Given the description of an element on the screen output the (x, y) to click on. 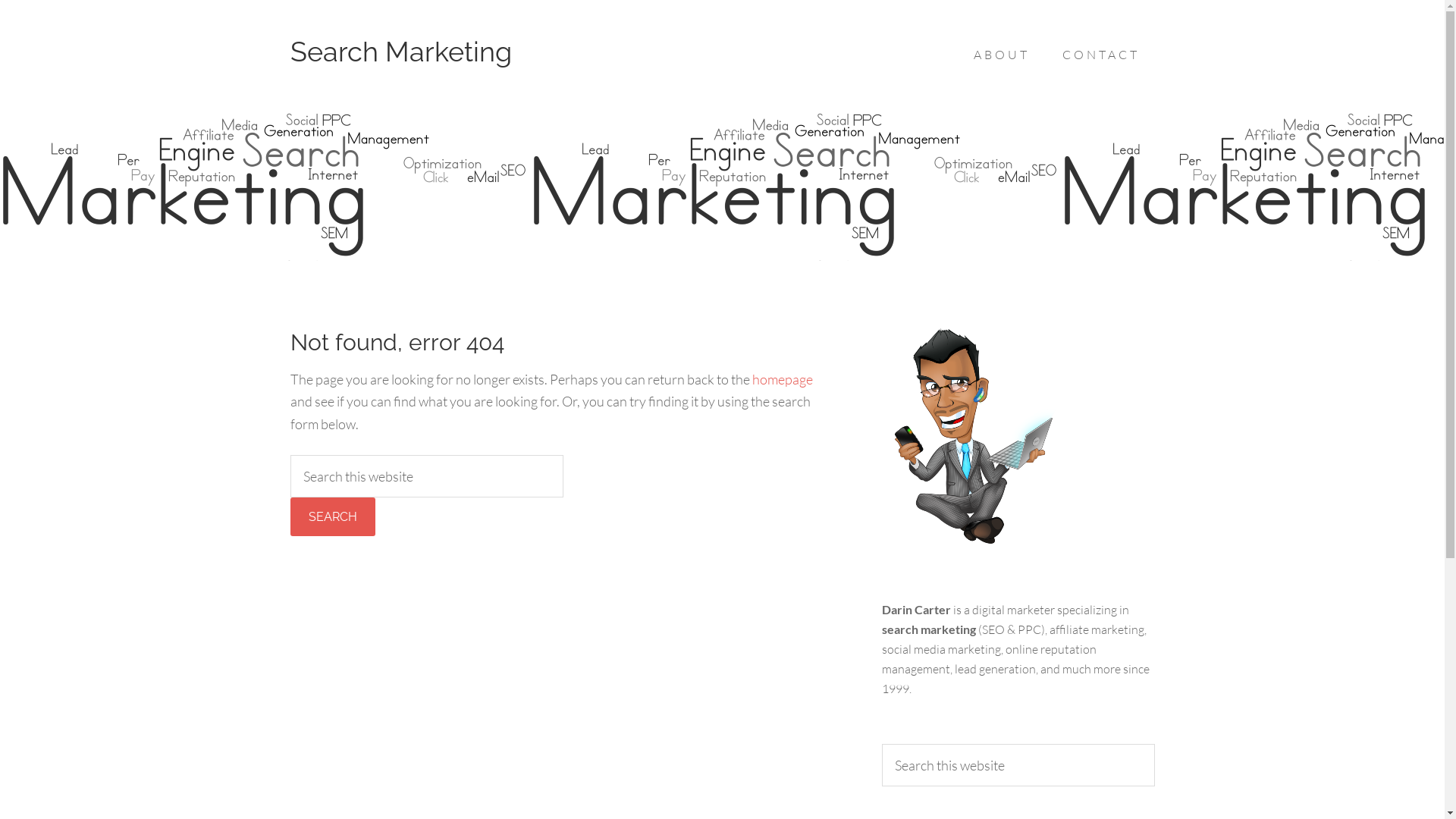
Search Element type: text (331, 516)
ABOUT Element type: text (1001, 54)
CONTACT Element type: text (1100, 54)
homepage Element type: text (782, 378)
Search Element type: text (1154, 743)
Search Marketing Element type: text (400, 51)
